Given the description of an element on the screen output the (x, y) to click on. 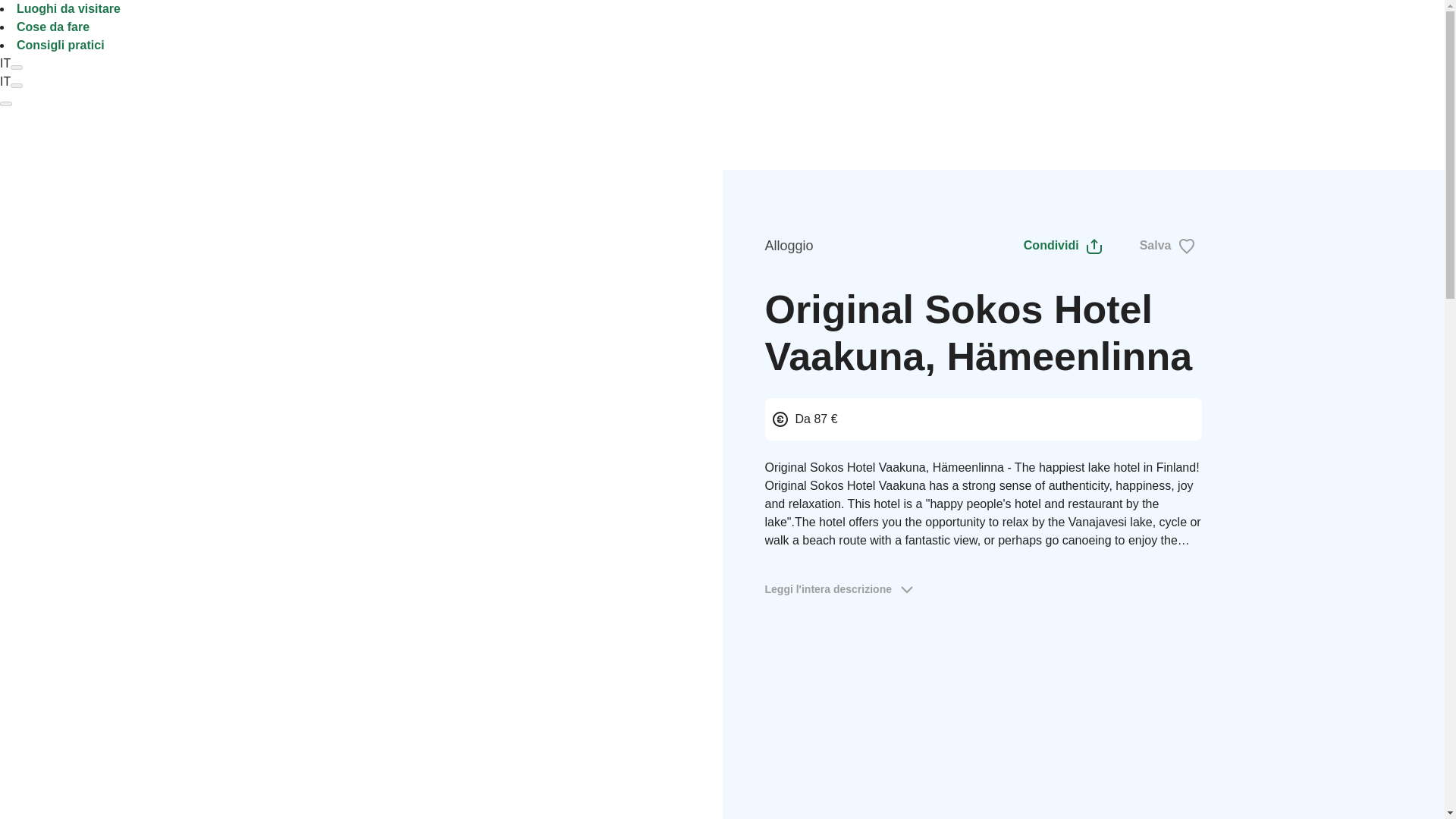
Cose da fare (52, 26)
Luoghi da visitare (68, 8)
Consigli pratici (60, 44)
